Given the description of an element on the screen output the (x, y) to click on. 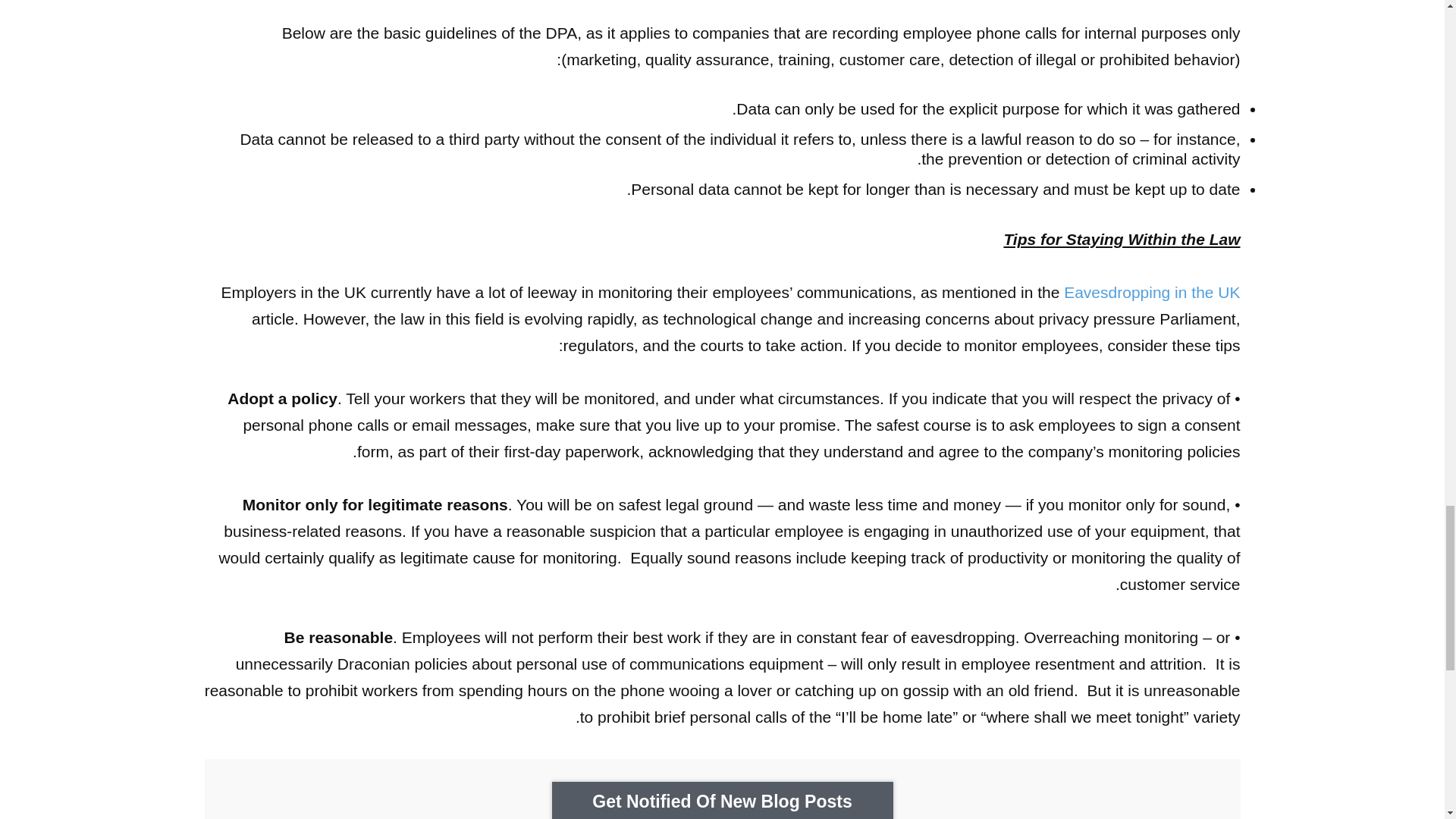
Eavesdropping in the uk (1152, 292)
Eavesdropping in the UK (1152, 292)
